Given the description of an element on the screen output the (x, y) to click on. 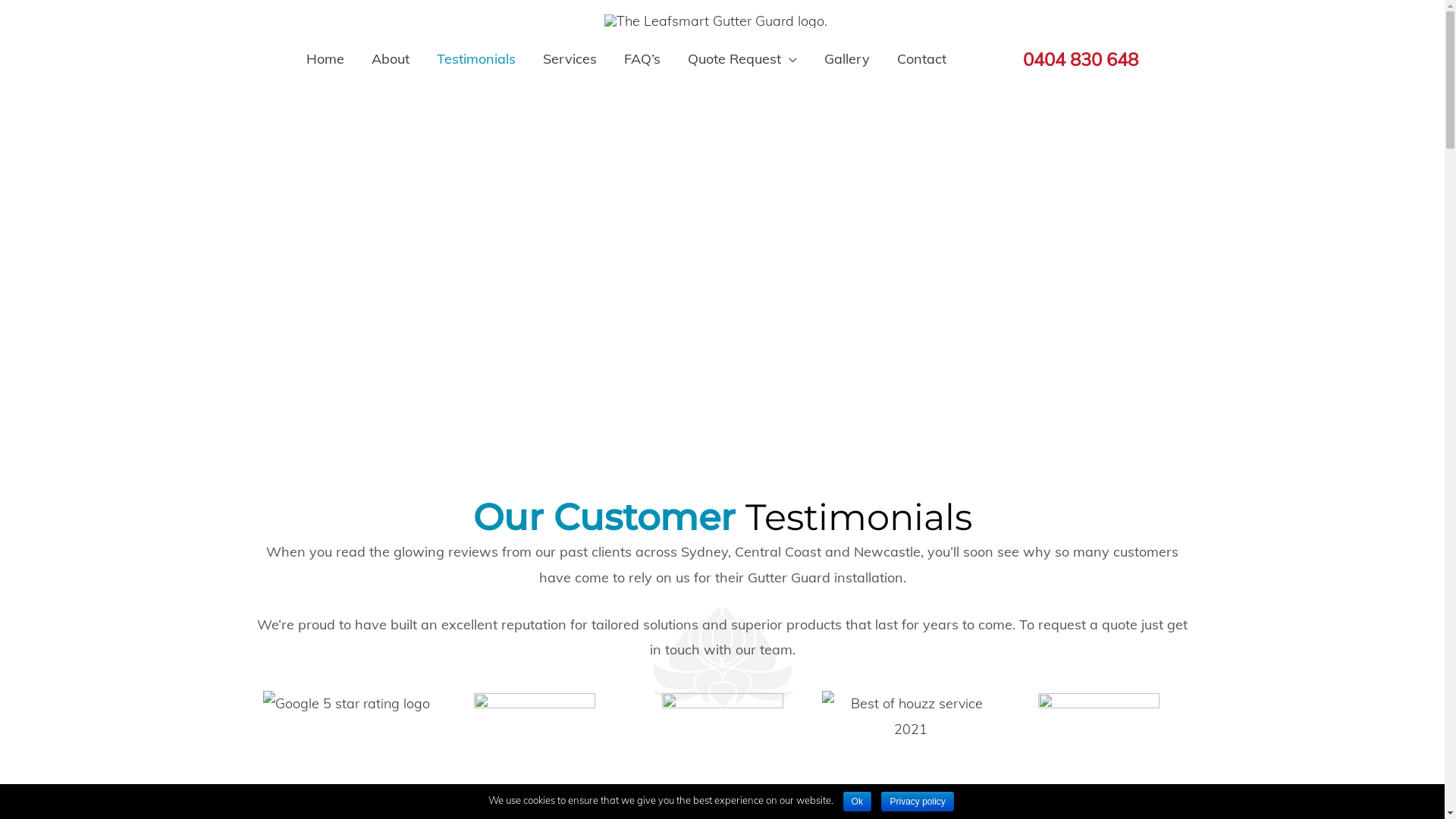
Services Element type: text (569, 58)
Contact Element type: text (921, 58)
Quote Request Element type: text (742, 58)
Home Element type: text (324, 58)
google-5-star-rating Element type: hover (345, 702)
Testimonials Element type: text (476, 58)
Gallery Element type: text (846, 58)
0404 830 648 Element type: text (1067, 58)
About Element type: text (390, 58)
Privacy policy Element type: text (917, 801)
Ok Element type: text (857, 801)
